Given the description of an element on the screen output the (x, y) to click on. 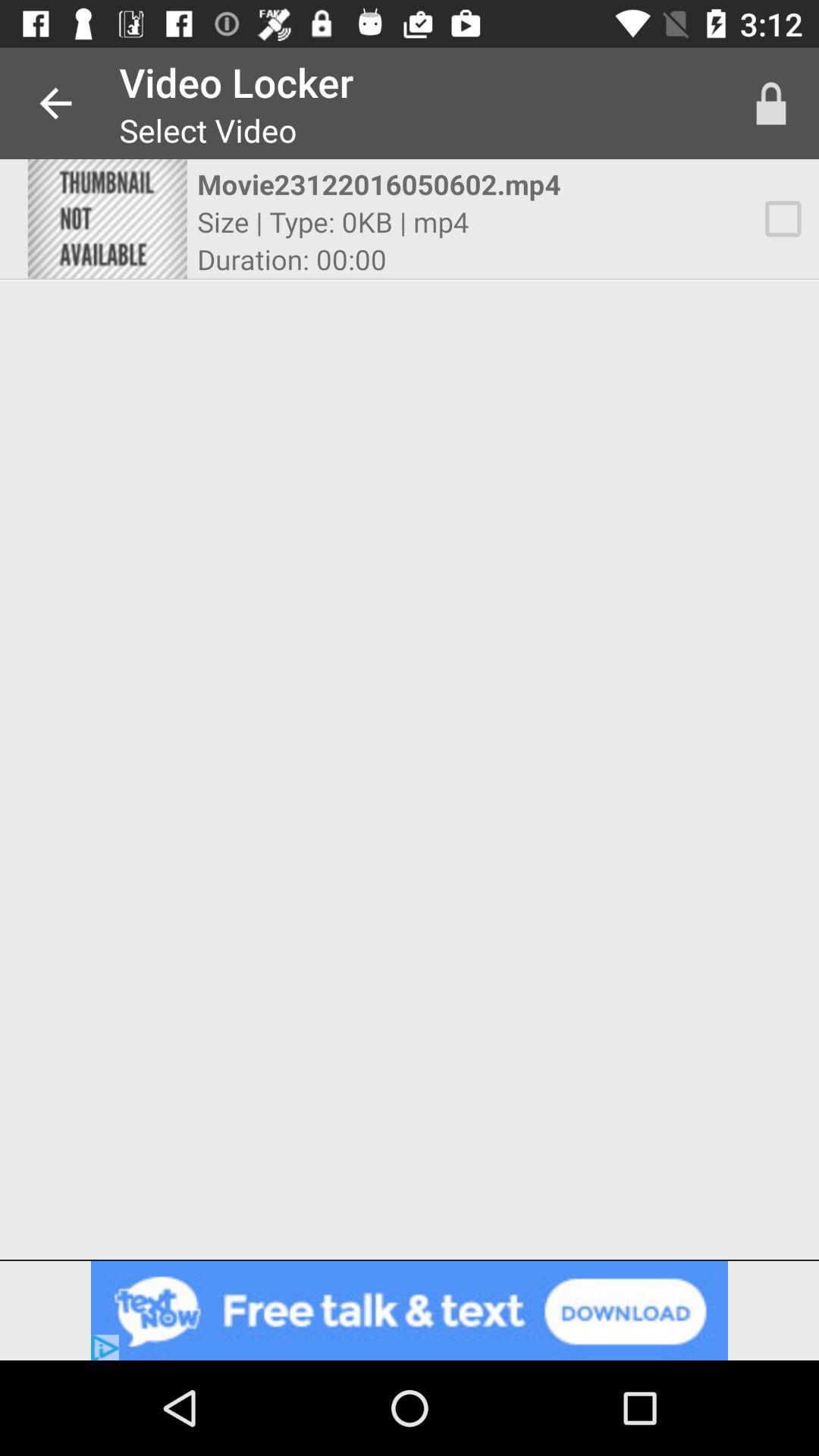
jump to size type 0kb icon (333, 221)
